Given the description of an element on the screen output the (x, y) to click on. 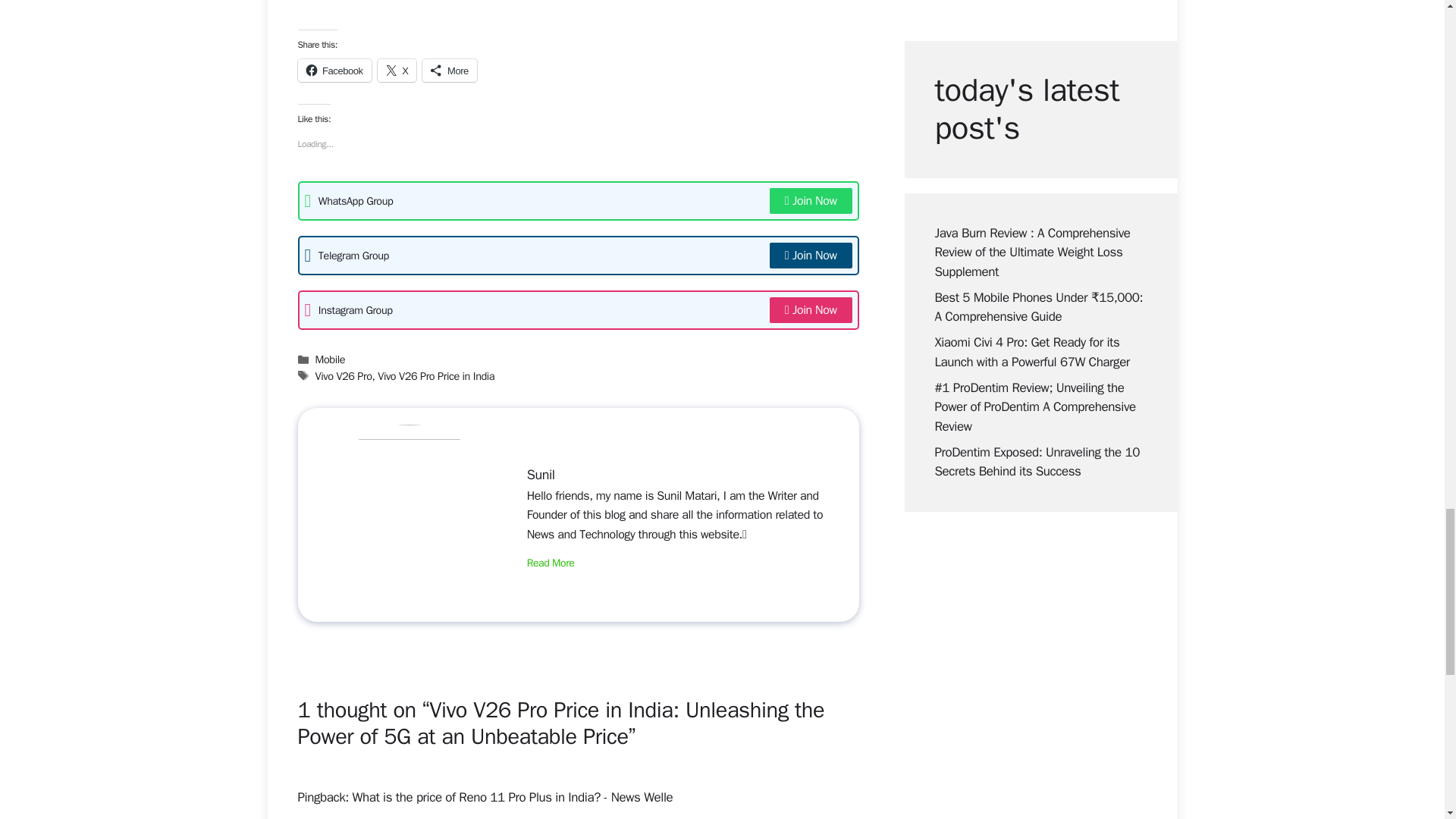
X (396, 69)
Join Now (810, 200)
Mobile (330, 359)
Join Now (810, 255)
Join Now (810, 309)
What is the price of Reno 11 Pro Plus in India? - News Welle (512, 797)
Click to share on Facebook (334, 69)
Click to share on X (396, 69)
Read More (551, 563)
Read more about this author (551, 563)
